Given the description of an element on the screen output the (x, y) to click on. 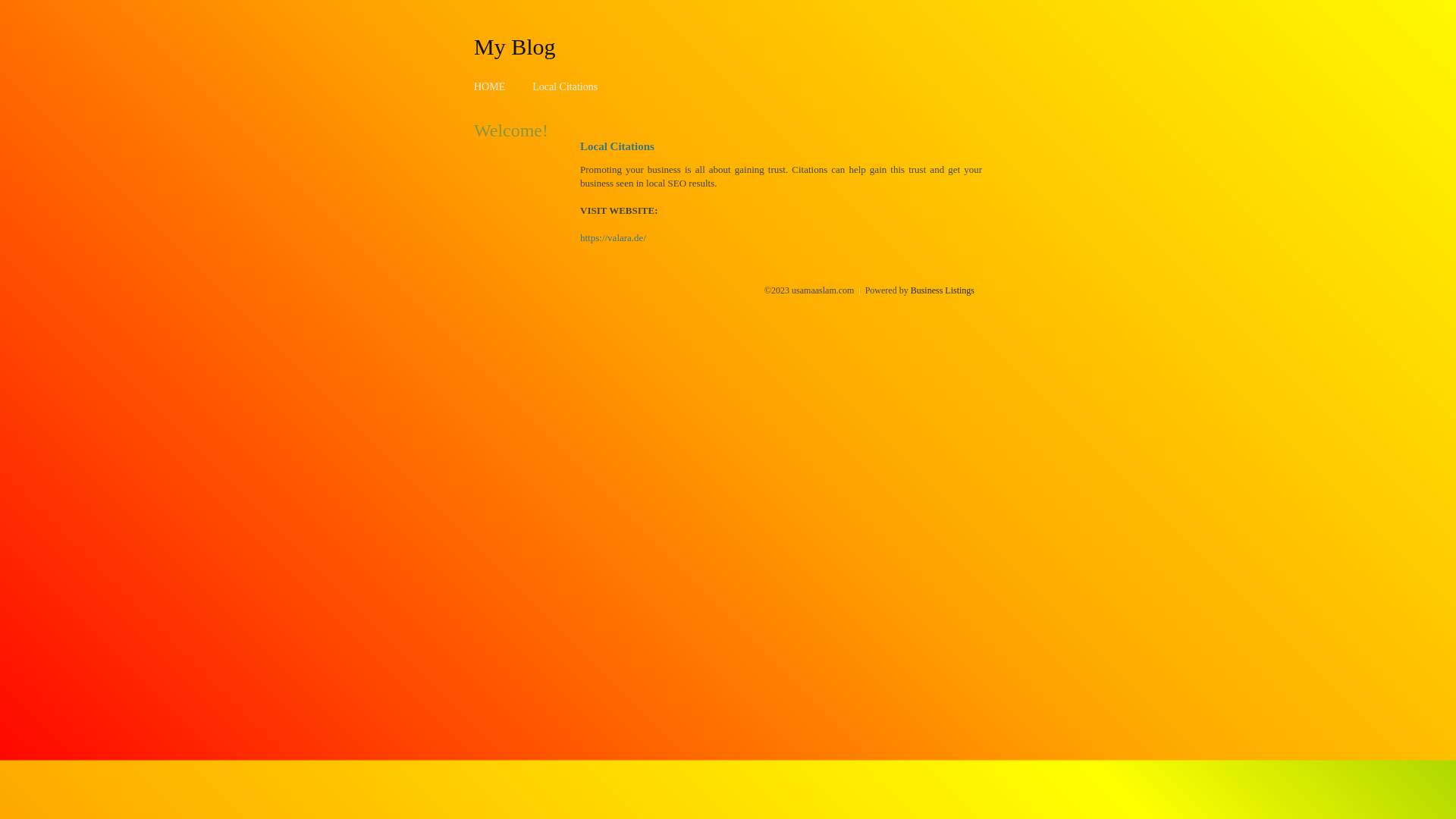
Local Citations Element type: text (564, 86)
Business Listings Element type: text (942, 290)
My Blog Element type: text (514, 46)
HOME Element type: text (489, 86)
https://valara.de/ Element type: text (613, 237)
